Given the description of an element on the screen output the (x, y) to click on. 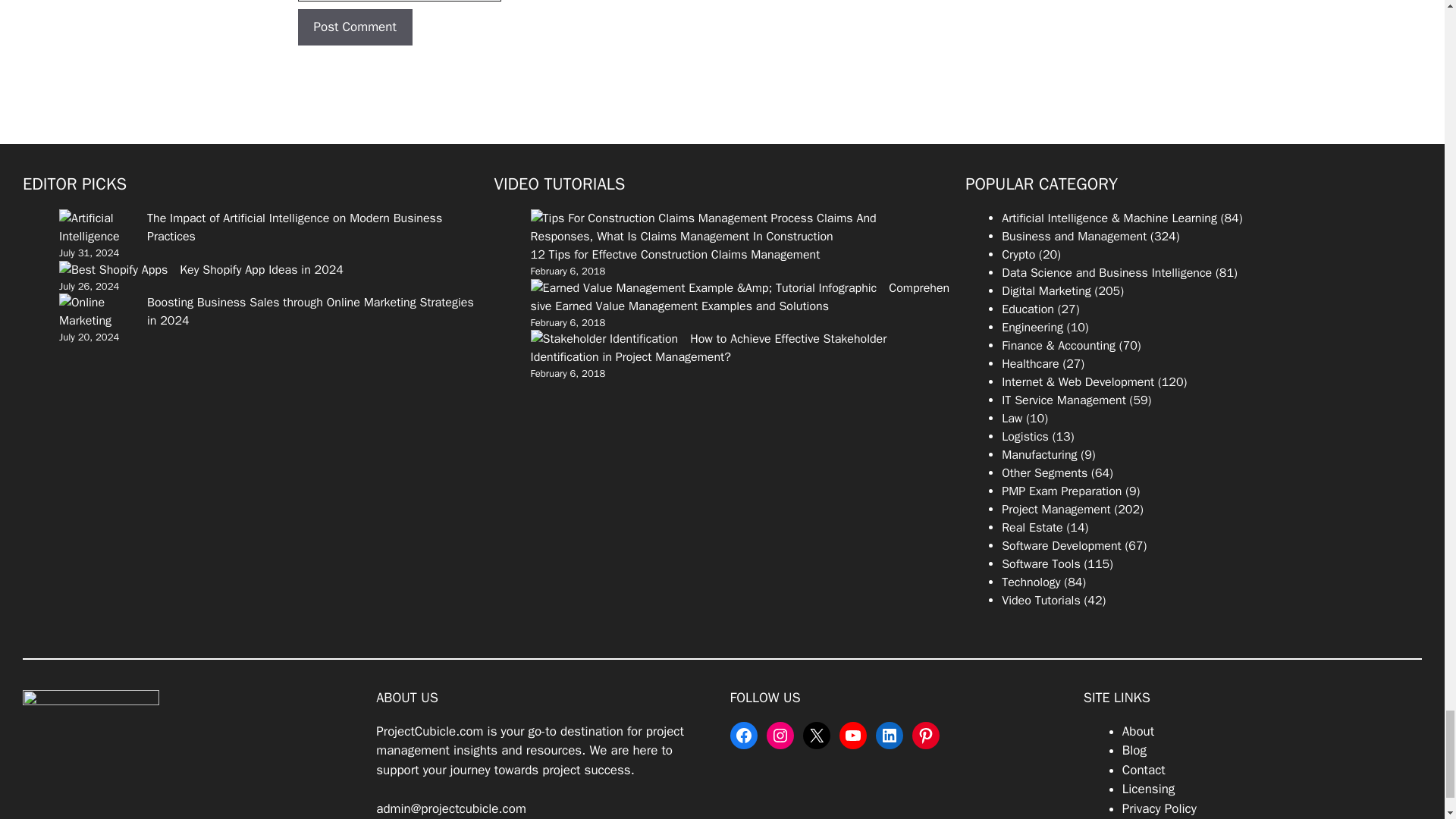
Post Comment (354, 27)
